Given the description of an element on the screen output the (x, y) to click on. 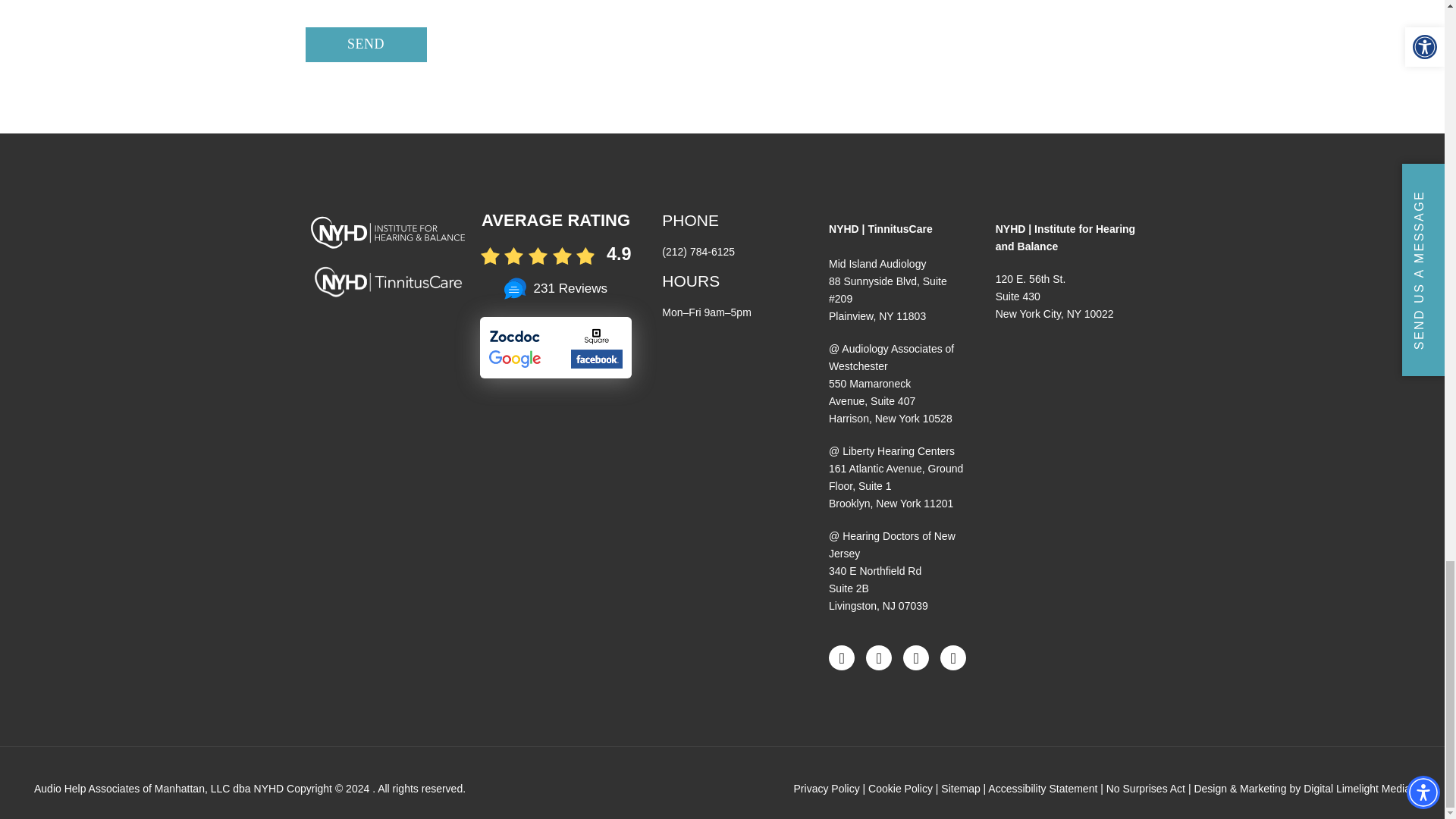
Instagram (878, 657)
Twitter (953, 657)
YouTube (915, 657)
Privacy Policy  (826, 788)
Cookie Policy  (900, 788)
Facebook (841, 657)
